Given the description of an element on the screen output the (x, y) to click on. 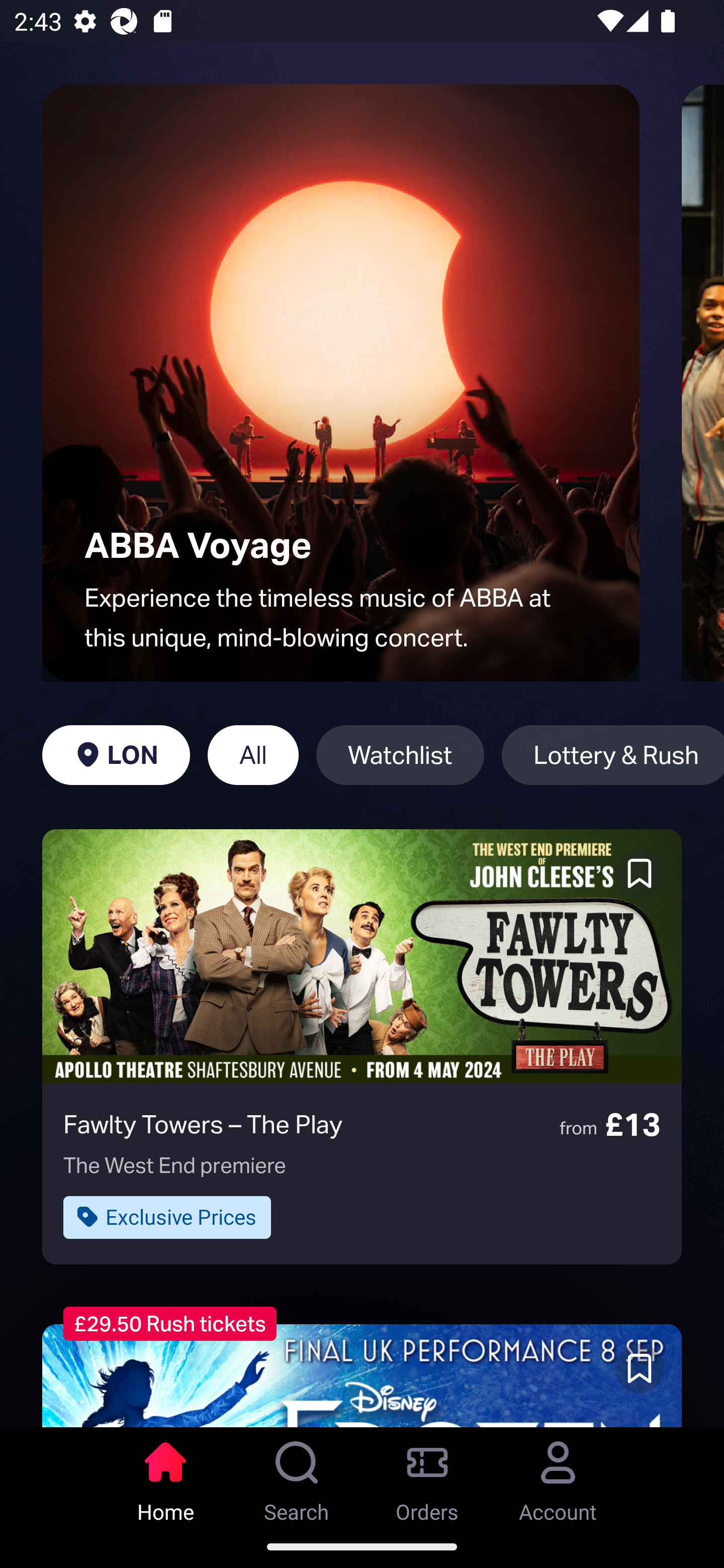
LON (115, 754)
All (252, 754)
Watchlist (400, 754)
Lottery & Rush (612, 754)
Search (296, 1475)
Orders (427, 1475)
Account (558, 1475)
